Given the description of an element on the screen output the (x, y) to click on. 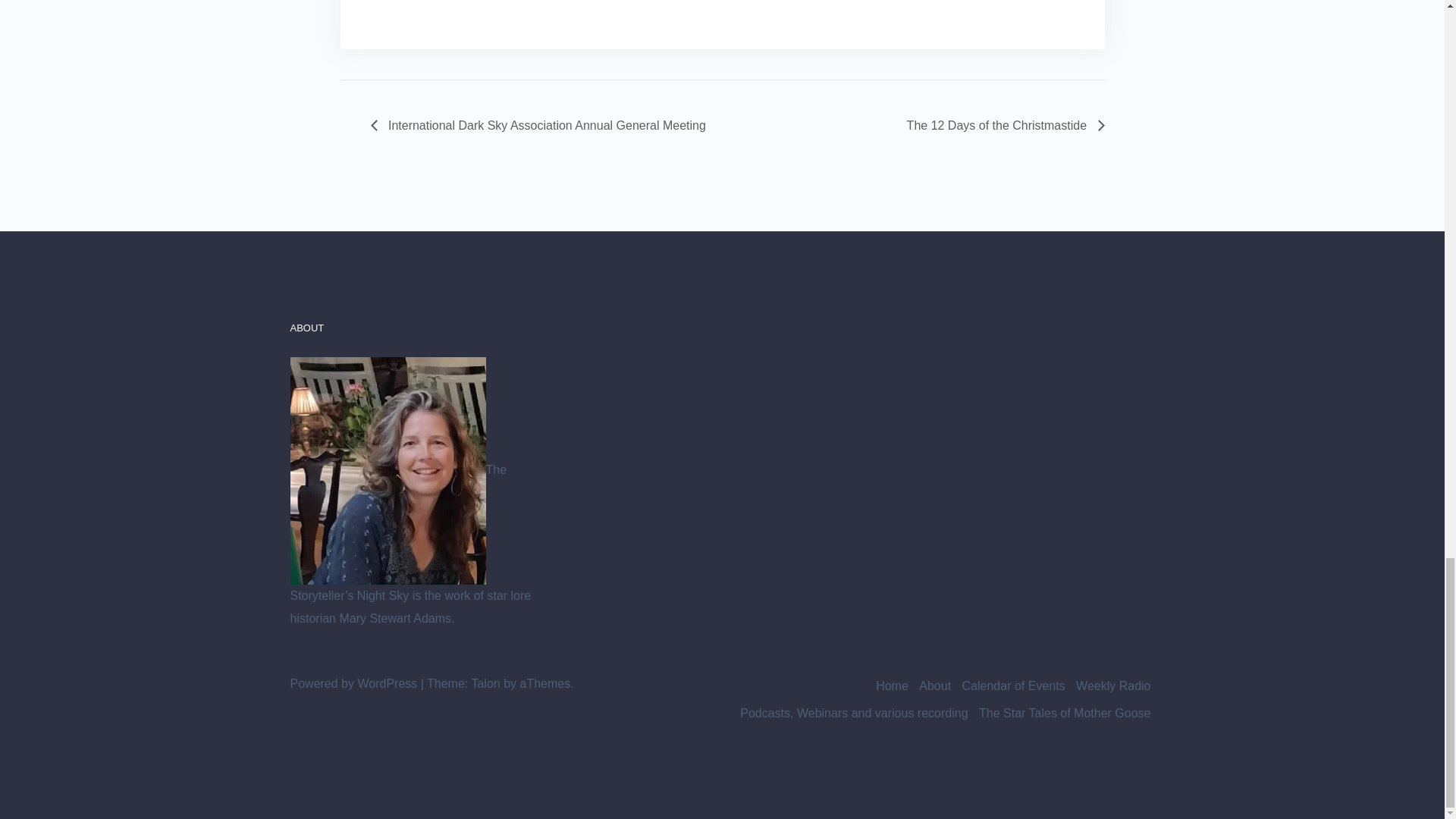
The 12 Days of the Christmastide (1001, 124)
International Dark Sky Association Annual General Meeting (541, 124)
Powered by WordPress (352, 683)
Home (892, 685)
About (934, 685)
Talon (484, 683)
